Given the description of an element on the screen output the (x, y) to click on. 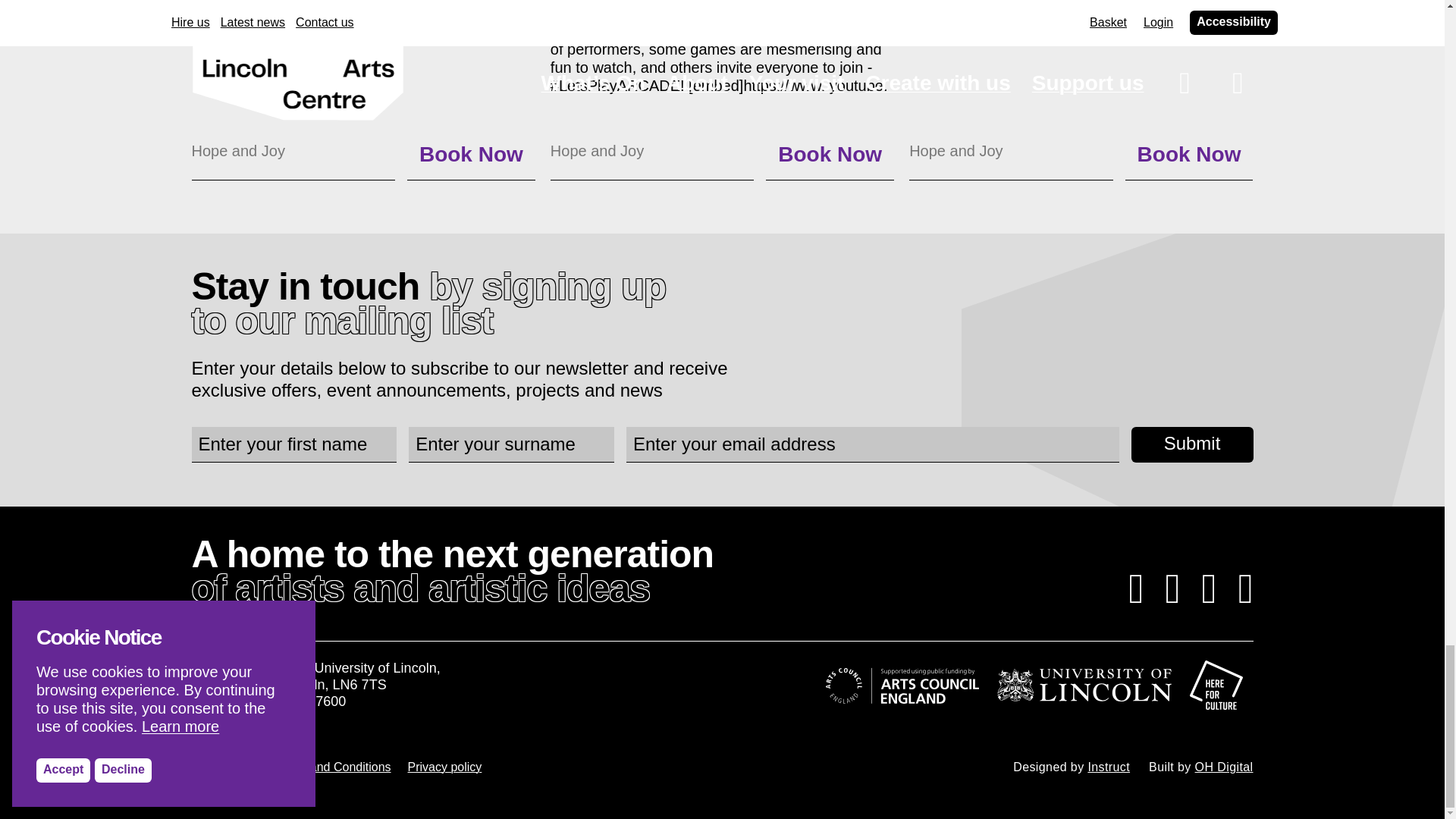
Hope and Joy (236, 150)
Submit (1192, 444)
Hope and Joy (955, 150)
Hope and Joy (596, 150)
